Given the description of an element on the screen output the (x, y) to click on. 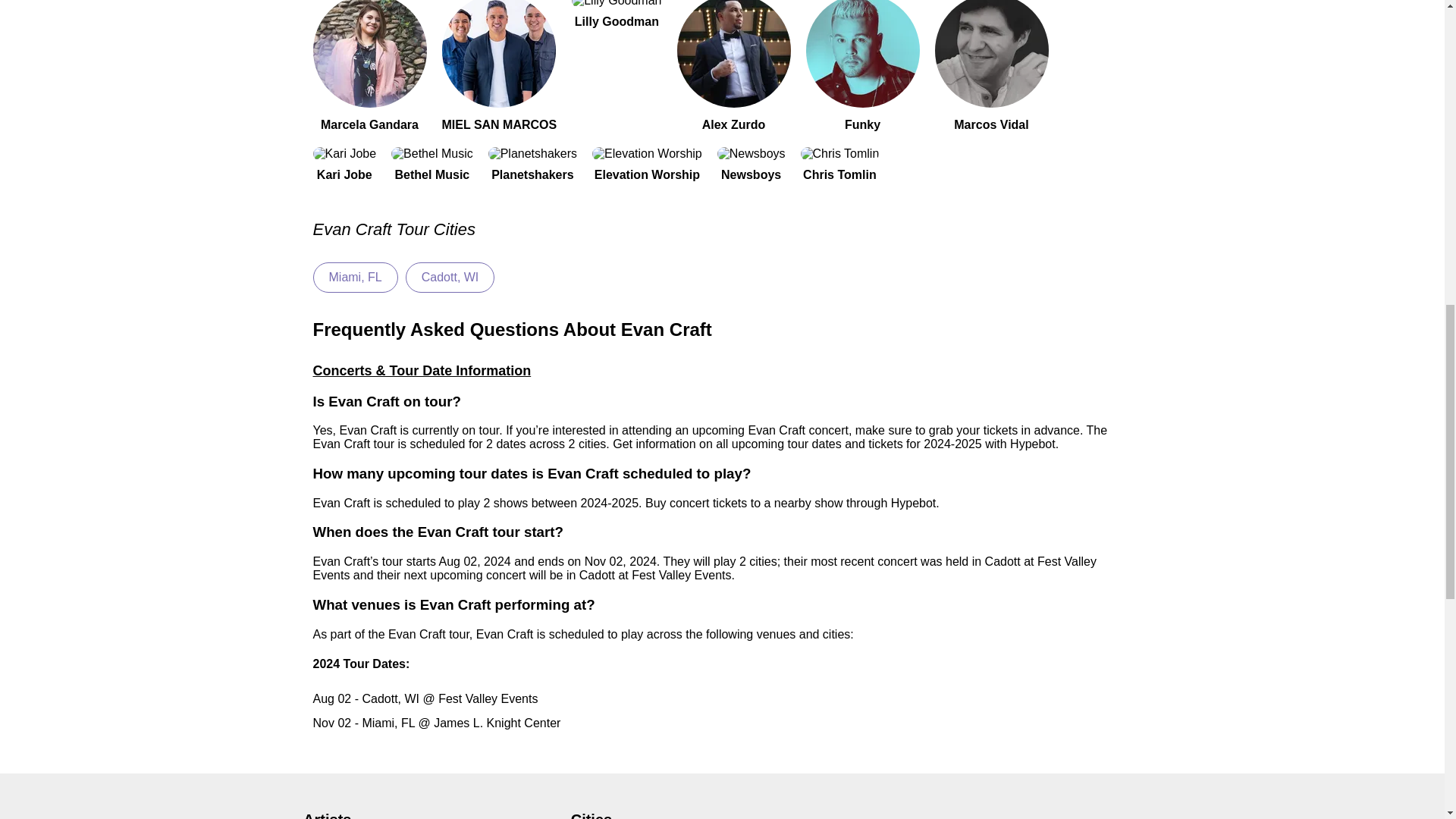
Kari Jobe (344, 164)
